Given the description of an element on the screen output the (x, y) to click on. 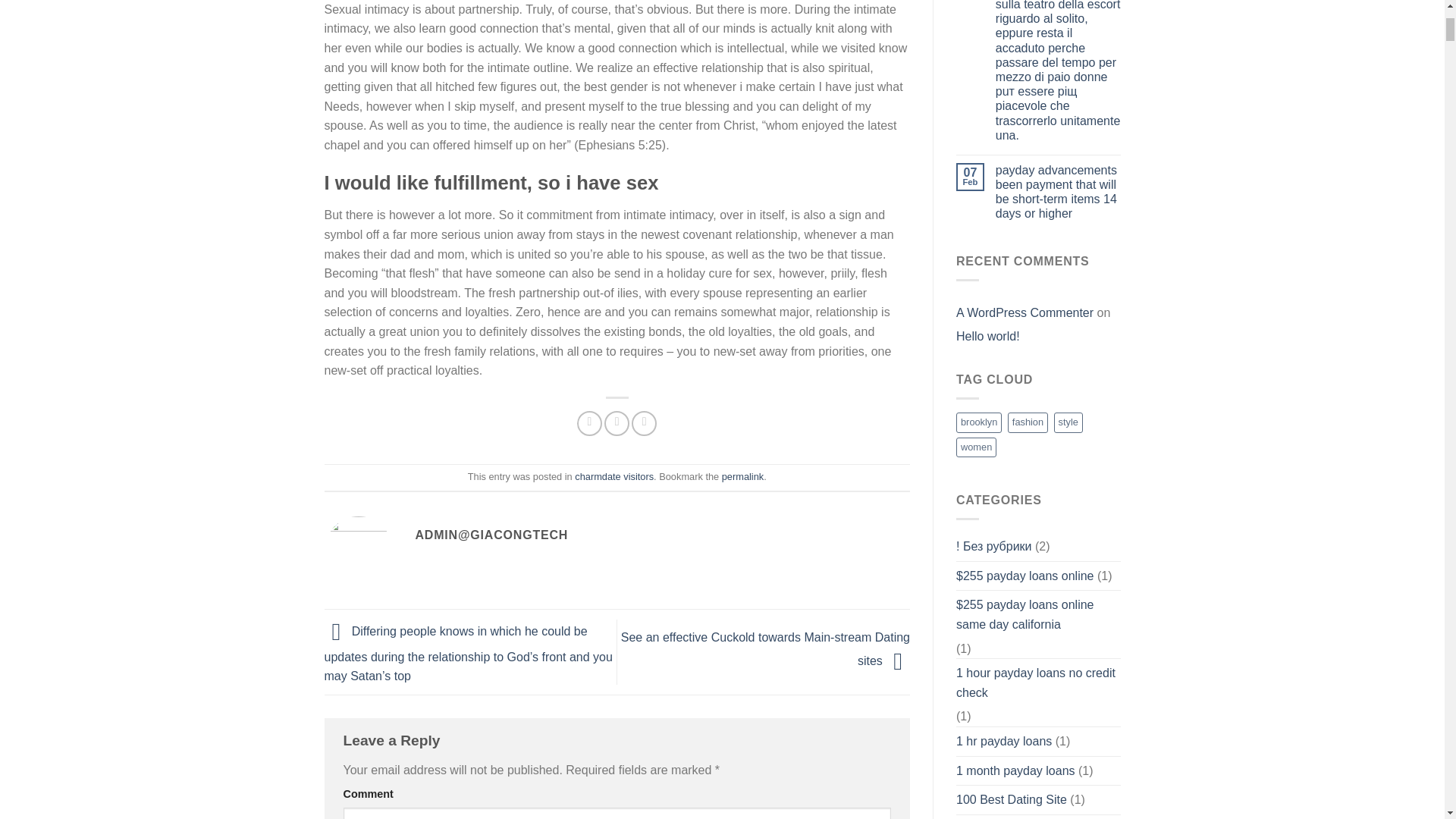
Share on Twitter (616, 423)
Email to a Friend (643, 423)
See an effective Cuckold towards Main-stream Dating sites (765, 648)
Share on Facebook (589, 423)
permalink (742, 476)
charmdate visitors (614, 476)
